Given the description of an element on the screen output the (x, y) to click on. 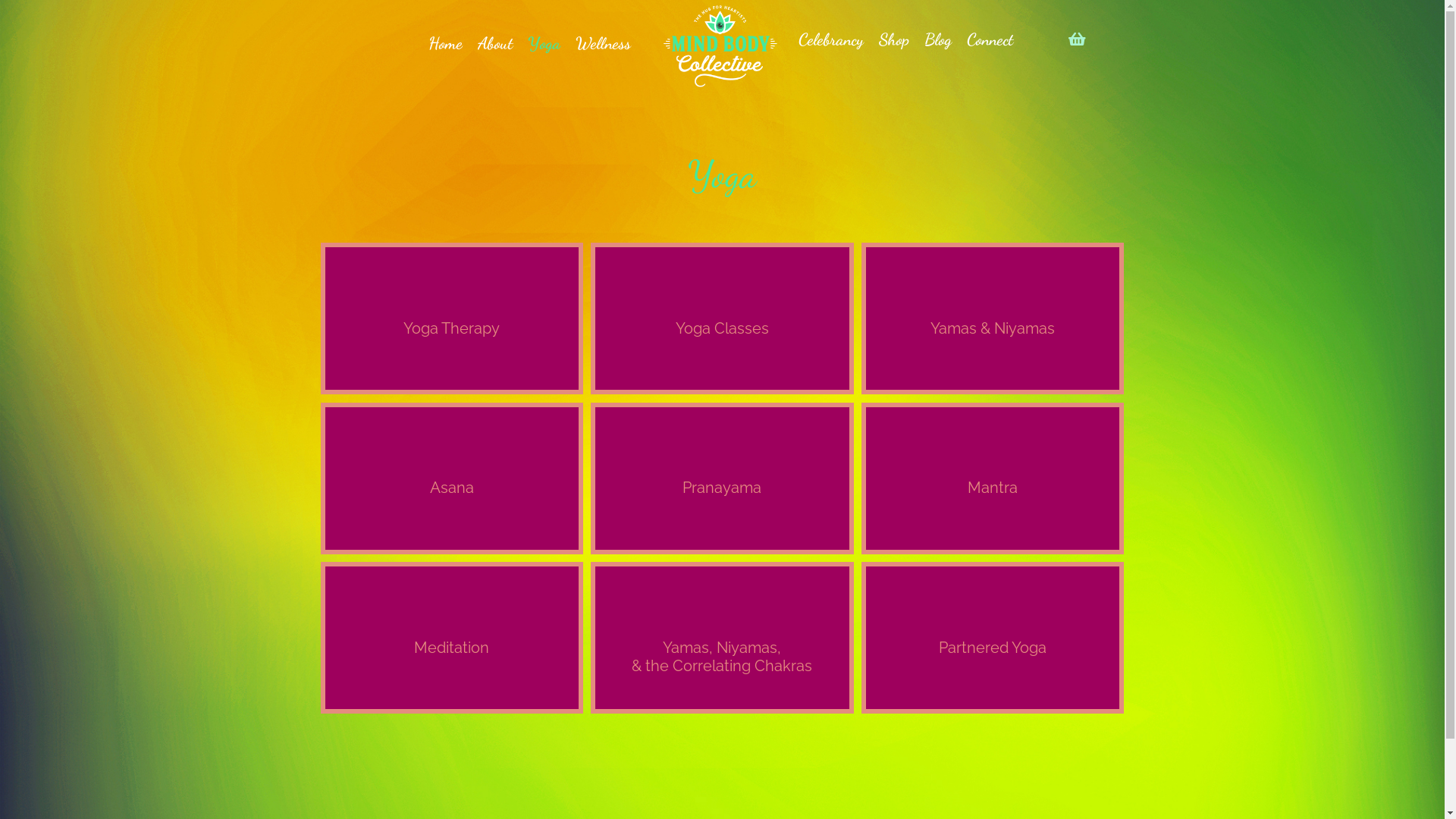
Yoga Therapy Element type: text (450, 318)
Shop Element type: text (893, 39)
Yoga Classes Element type: text (721, 318)
Celebrancy Element type: text (830, 39)
Yoga Therapy Element type: text (451, 318)
Yamas & Niyamas Element type: text (992, 318)
Yamas, Niyamas,
& the Correlating Chakras Element type: text (721, 637)
Wellness Element type: text (602, 43)
Asana Element type: text (450, 478)
Yamas & Niyamas Element type: text (992, 318)
Pranayama Element type: text (721, 478)
Pranayama Element type: text (721, 478)
MindBodyCollective-White Element type: hover (720, 46)
Yoga Classes Element type: text (721, 318)
Home Element type: text (445, 43)
Yamas, Niyamas,
& the Correlating Chakras Element type: text (721, 637)
Partnered Yoga Element type: text (992, 637)
Yoga Element type: text (543, 43)
Connect Element type: text (989, 39)
Asana Element type: text (451, 478)
Partnered Yoga Element type: text (992, 637)
Meditation Element type: text (450, 637)
Mantra Element type: text (992, 478)
Blog Element type: text (937, 39)
Meditation Element type: text (451, 637)
About Element type: text (495, 43)
Mantra Element type: text (992, 478)
